Given the description of an element on the screen output the (x, y) to click on. 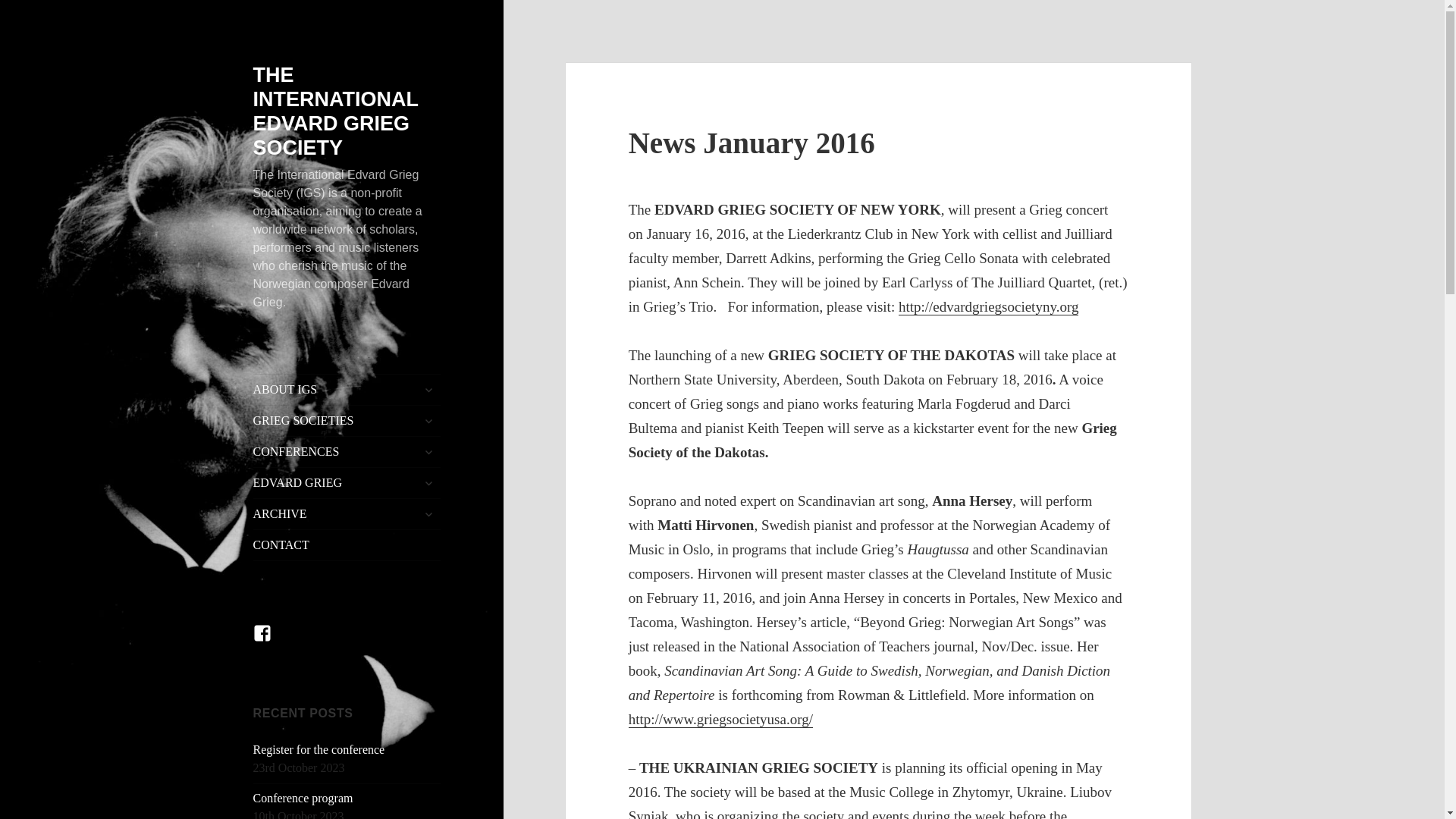
ABOUT IGS (347, 389)
CONFERENCES (347, 451)
expand child menu (428, 389)
THE INTERNATIONAL EDVARD GRIEG SOCIETY (336, 110)
expand child menu (428, 451)
Connect with us on Facebook (271, 642)
GRIEG SOCIETIES (347, 420)
expand child menu (428, 420)
